Given the description of an element on the screen output the (x, y) to click on. 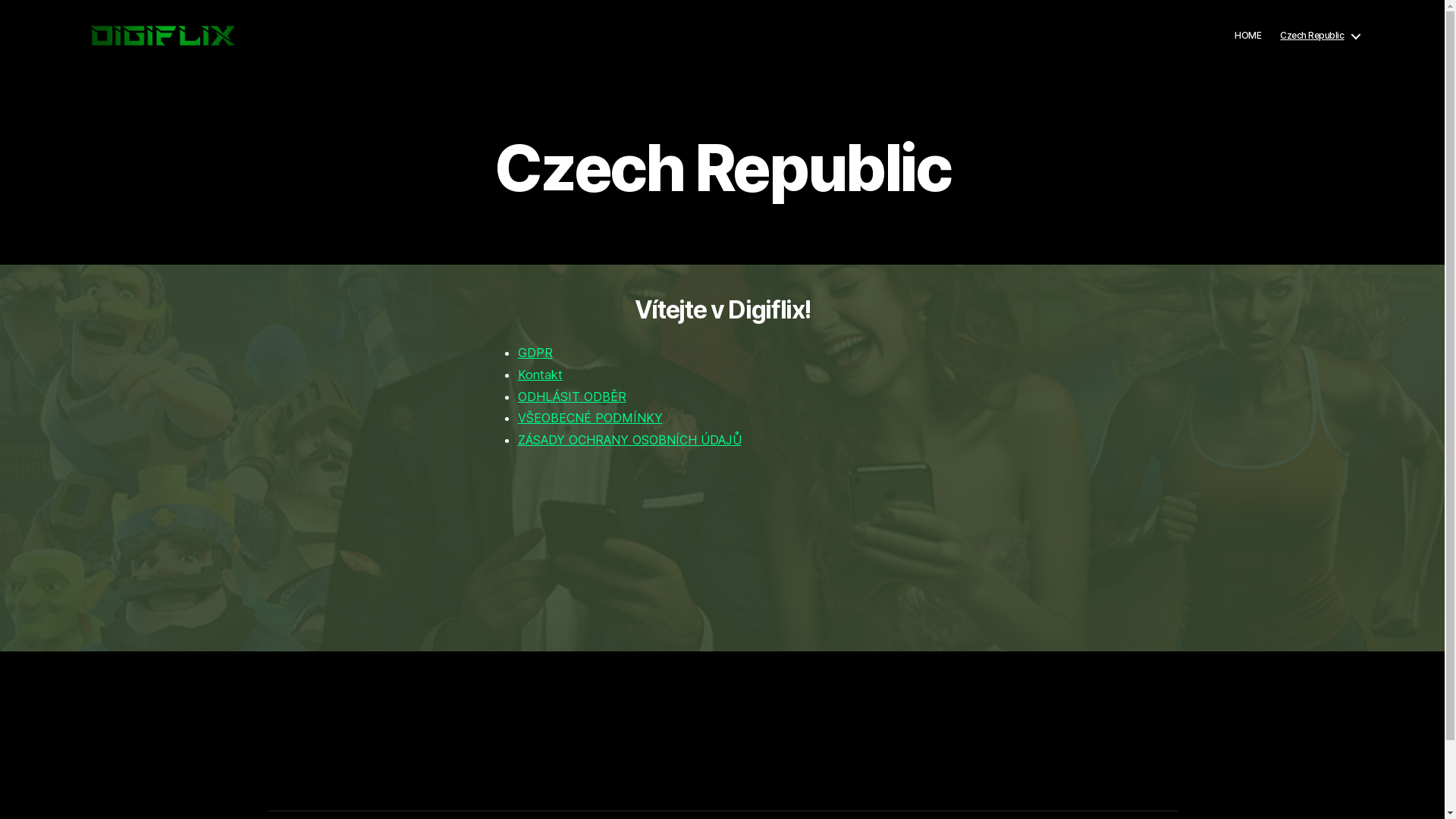
GDPR Element type: text (534, 352)
Kontakt Element type: text (539, 374)
HOME Element type: text (1247, 35)
Czech Republic Element type: text (1319, 35)
